Given the description of an element on the screen output the (x, y) to click on. 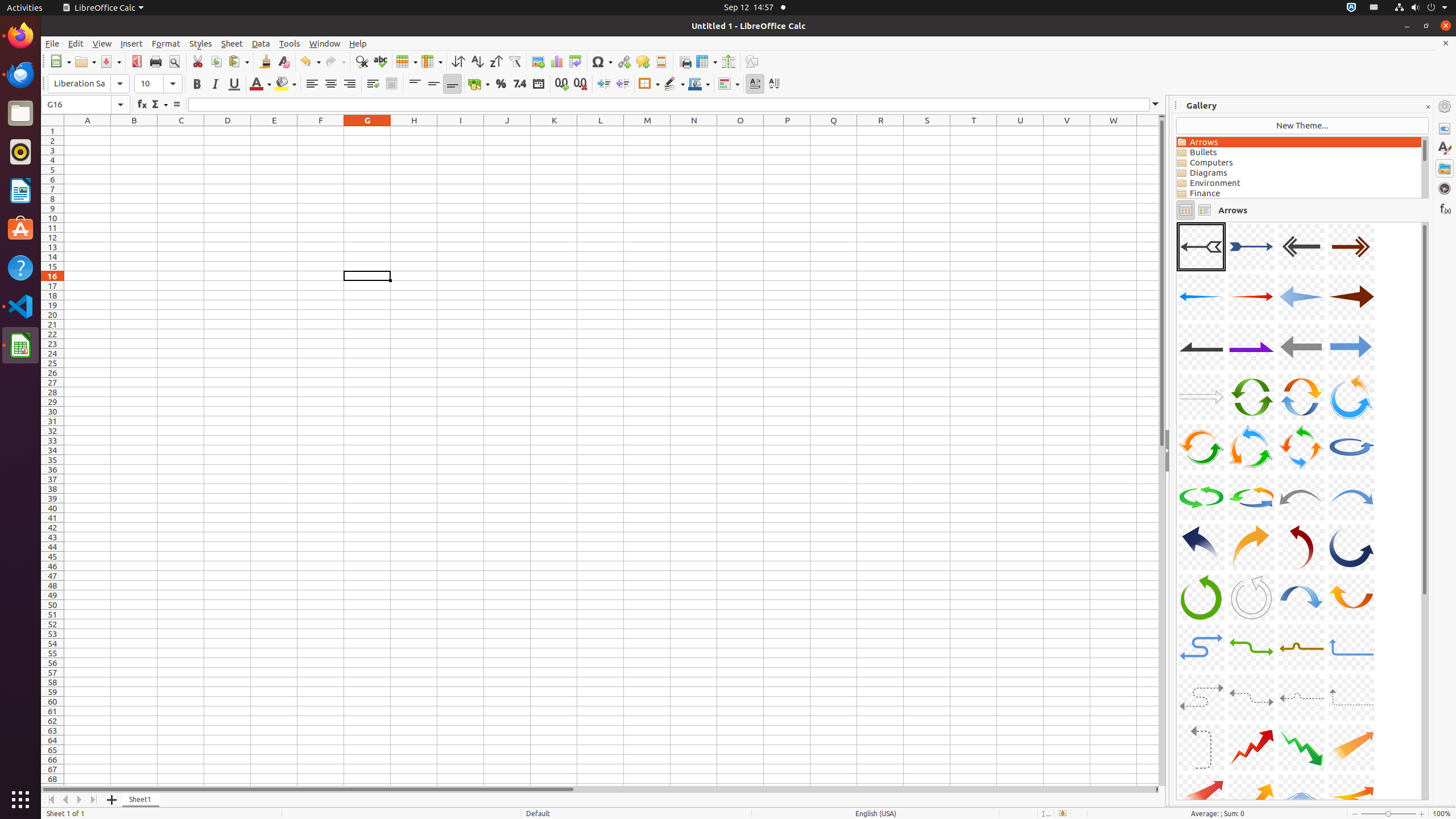
Styles Element type: radio-button (1444, 148)
Undo Element type: push-button (309, 61)
A04-Arrow-DarkRed-Right Element type: list-item (1350, 246)
A28-CurvedArrow-DarkBlue Element type: list-item (1350, 546)
A46-TrendArrow-Orange-GoUp Element type: list-item (1176, 222)
